Given the description of an element on the screen output the (x, y) to click on. 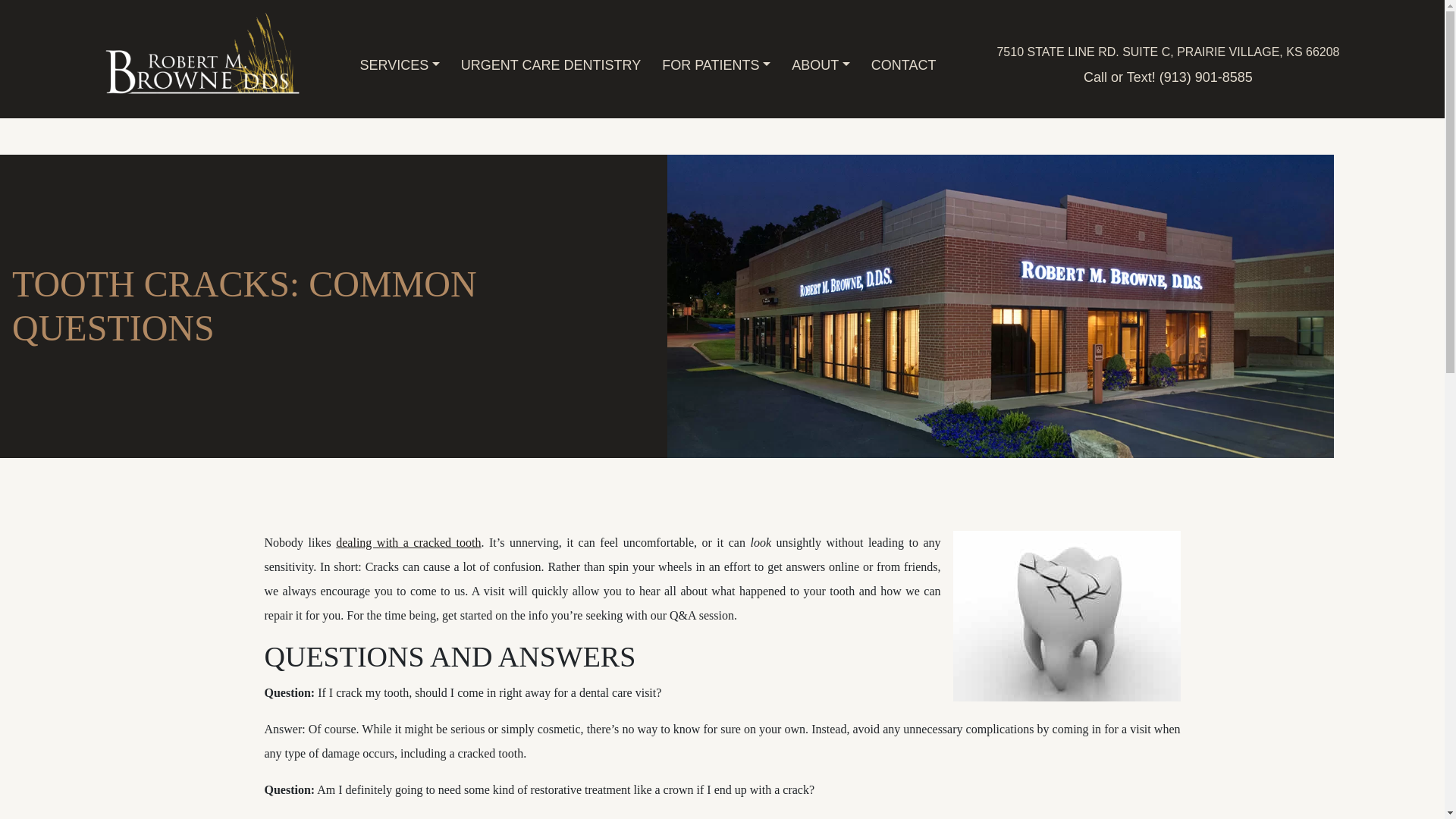
Services (399, 64)
FOR PATIENTS (716, 64)
URGENT CARE DENTISTRY (550, 64)
About (821, 64)
For Patients (716, 64)
CONTACT (903, 64)
dealing with a cracked tooth (408, 542)
Urgent Care Dentistry (550, 64)
SERVICES (399, 64)
ABOUT (821, 64)
